Given the description of an element on the screen output the (x, y) to click on. 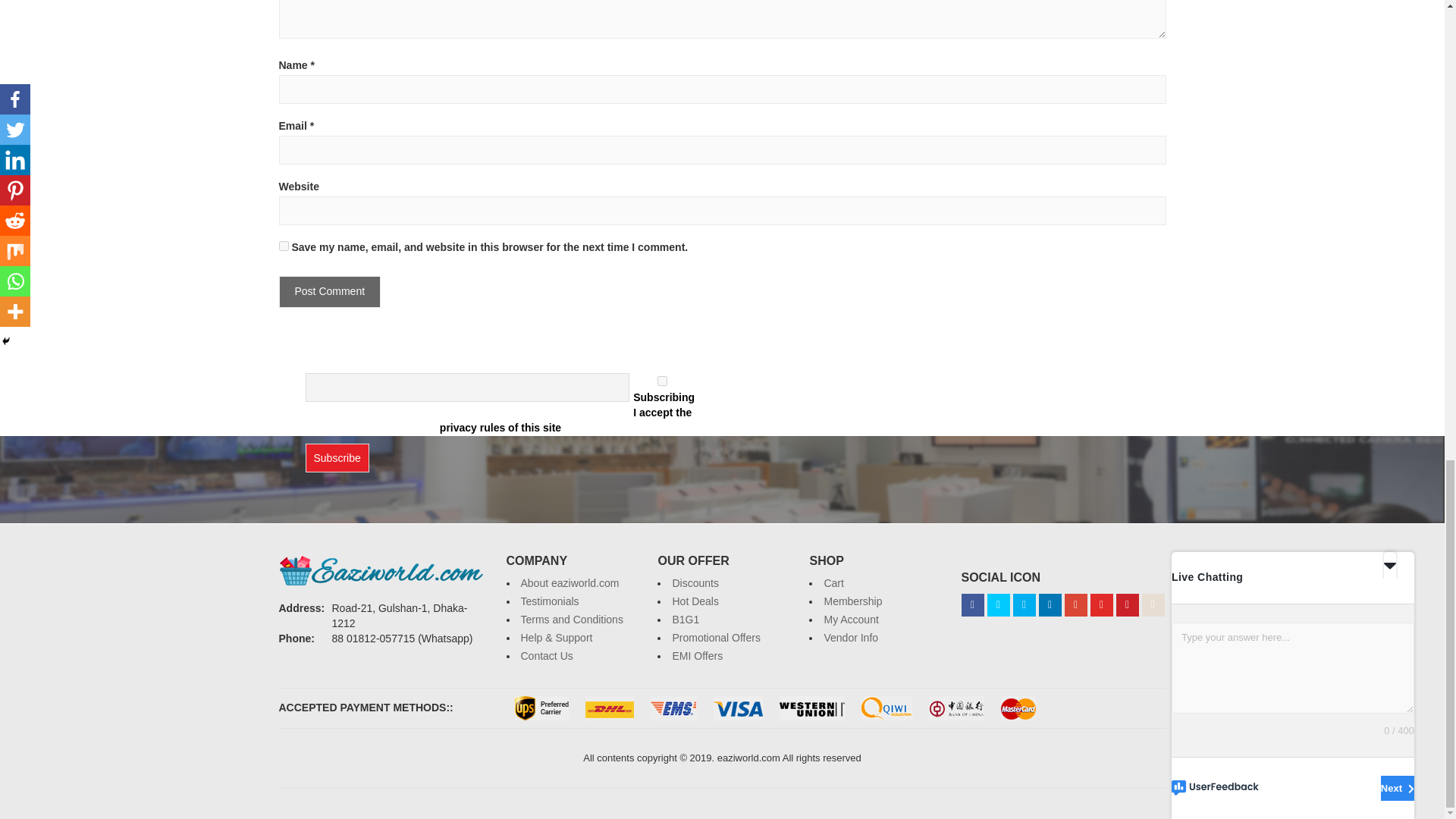
Subscribe (336, 457)
on (662, 380)
yes (283, 245)
Post Comment (330, 291)
